Given the description of an element on the screen output the (x, y) to click on. 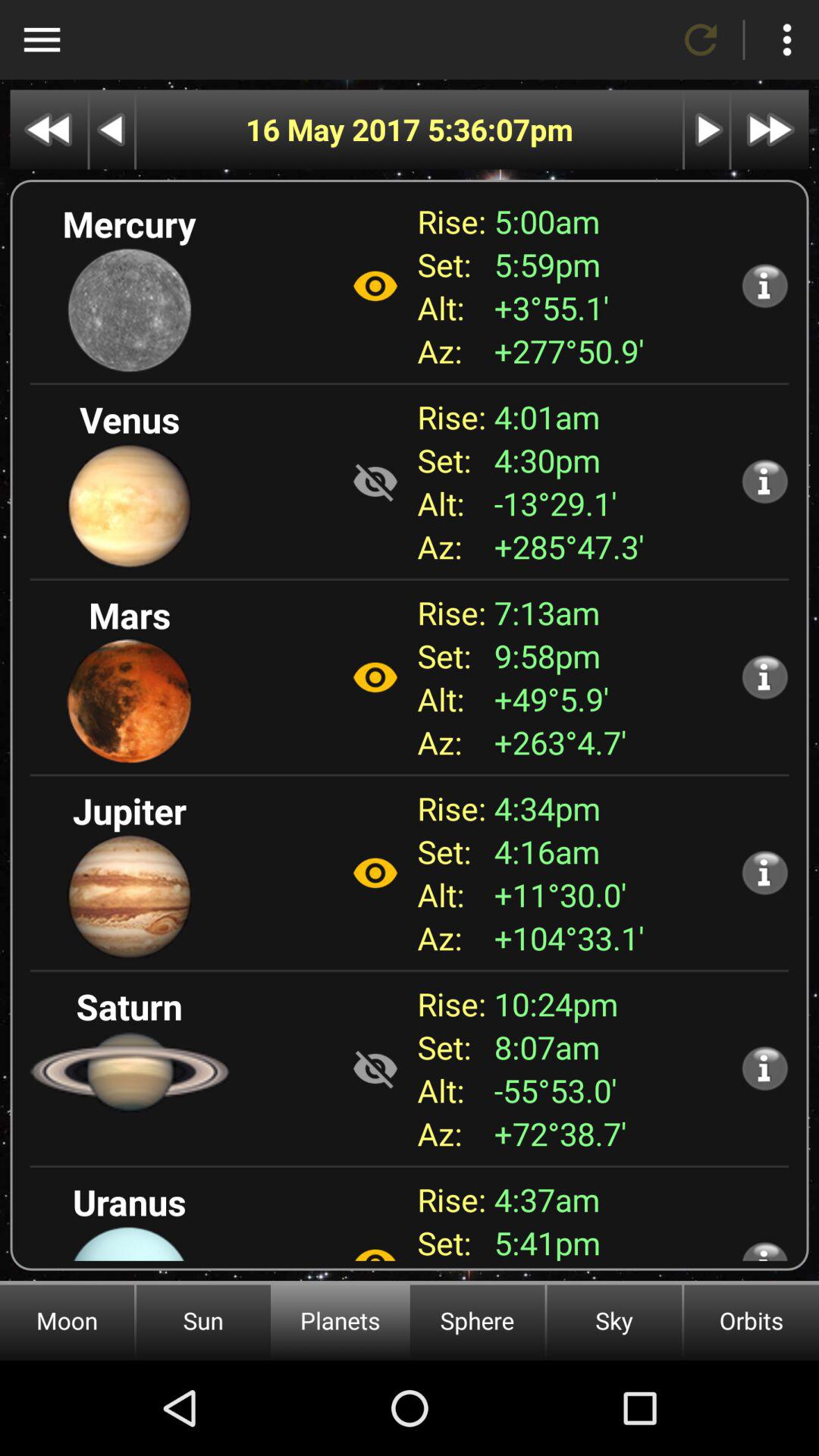
select an other other option (375, 1246)
